Given the description of an element on the screen output the (x, y) to click on. 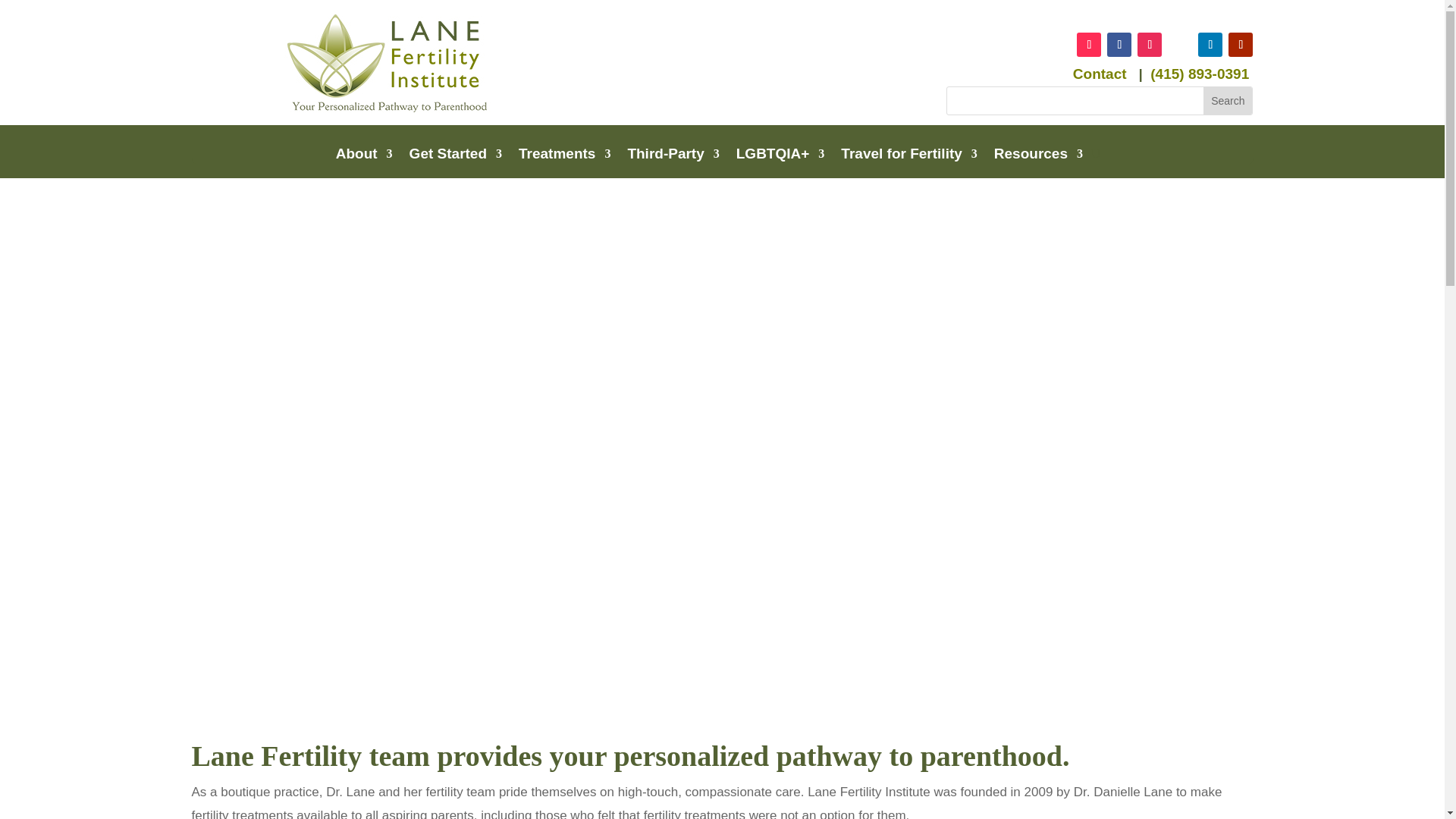
Third-Party (673, 156)
Follow on TikTok (1088, 44)
Search (1228, 100)
Follow on  (1179, 44)
Treatments (564, 156)
Follow on Facebook (1118, 44)
Search (1228, 100)
Follow on Youtube (1240, 44)
Follow on Instagram (1149, 44)
Contact (1099, 73)
